Given the description of an element on the screen output the (x, y) to click on. 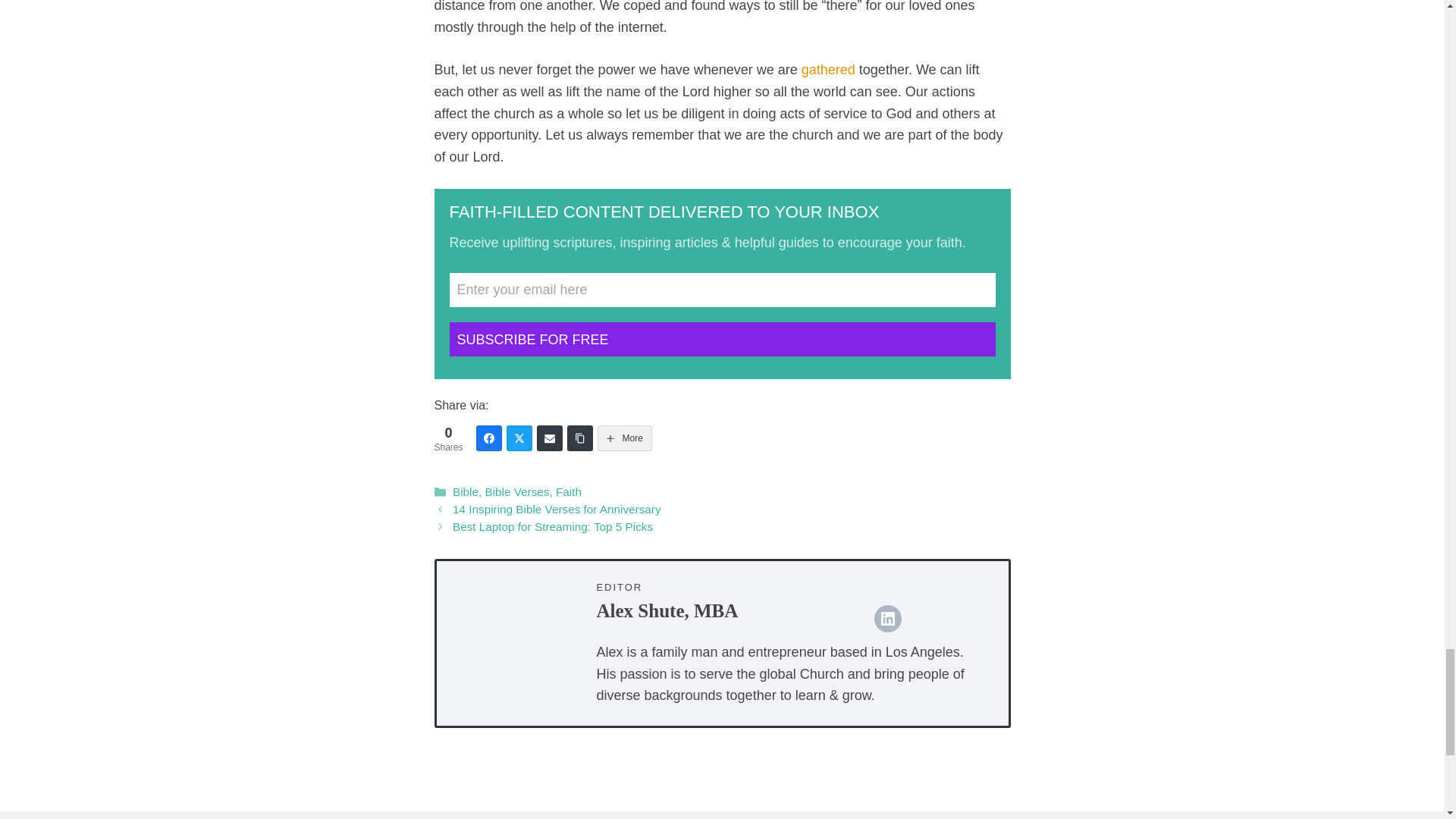
Subscribe For Free (721, 339)
